Given the description of an element on the screen output the (x, y) to click on. 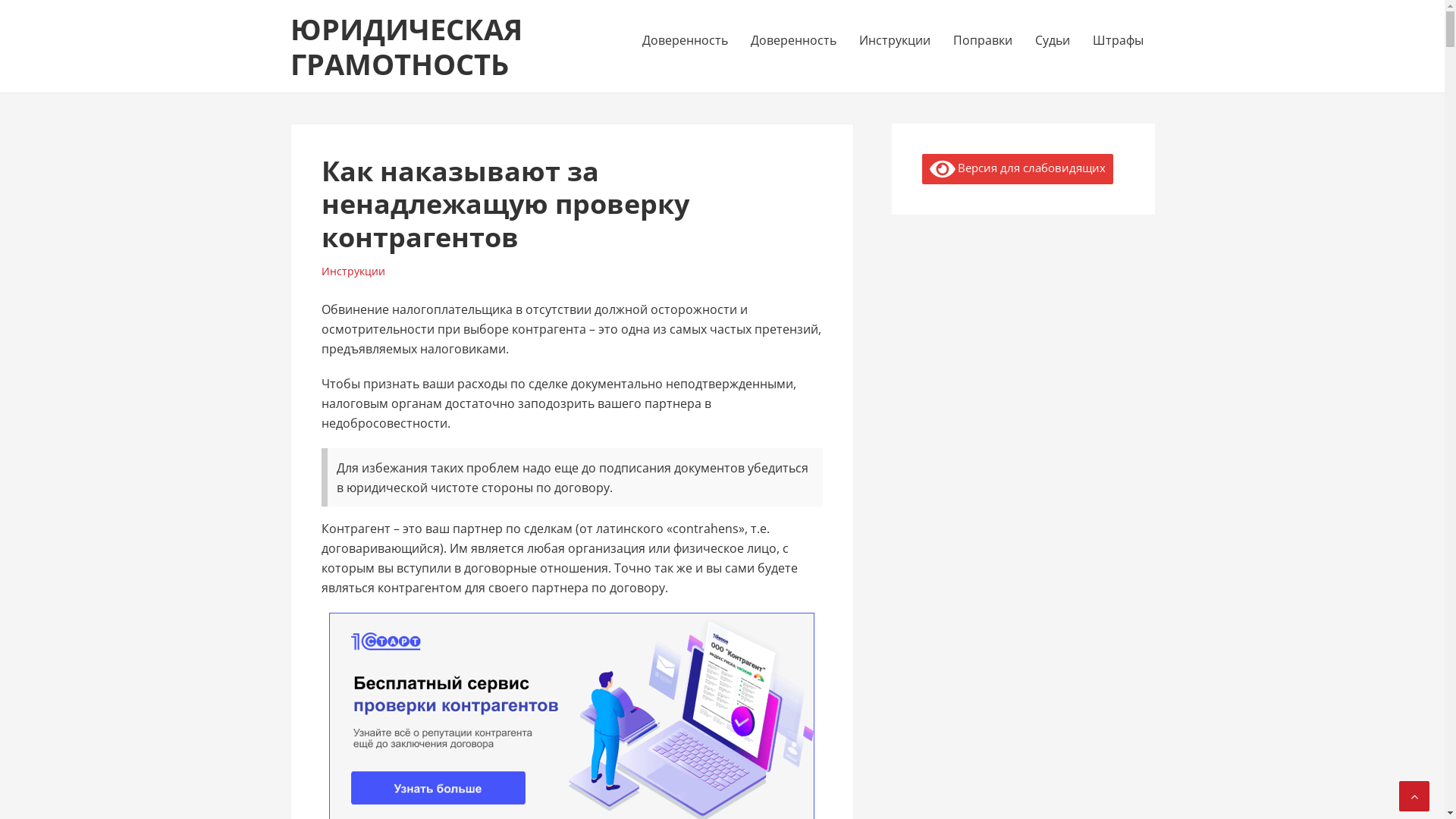
Skip to navigation Element type: text (289, 0)
